Given the description of an element on the screen output the (x, y) to click on. 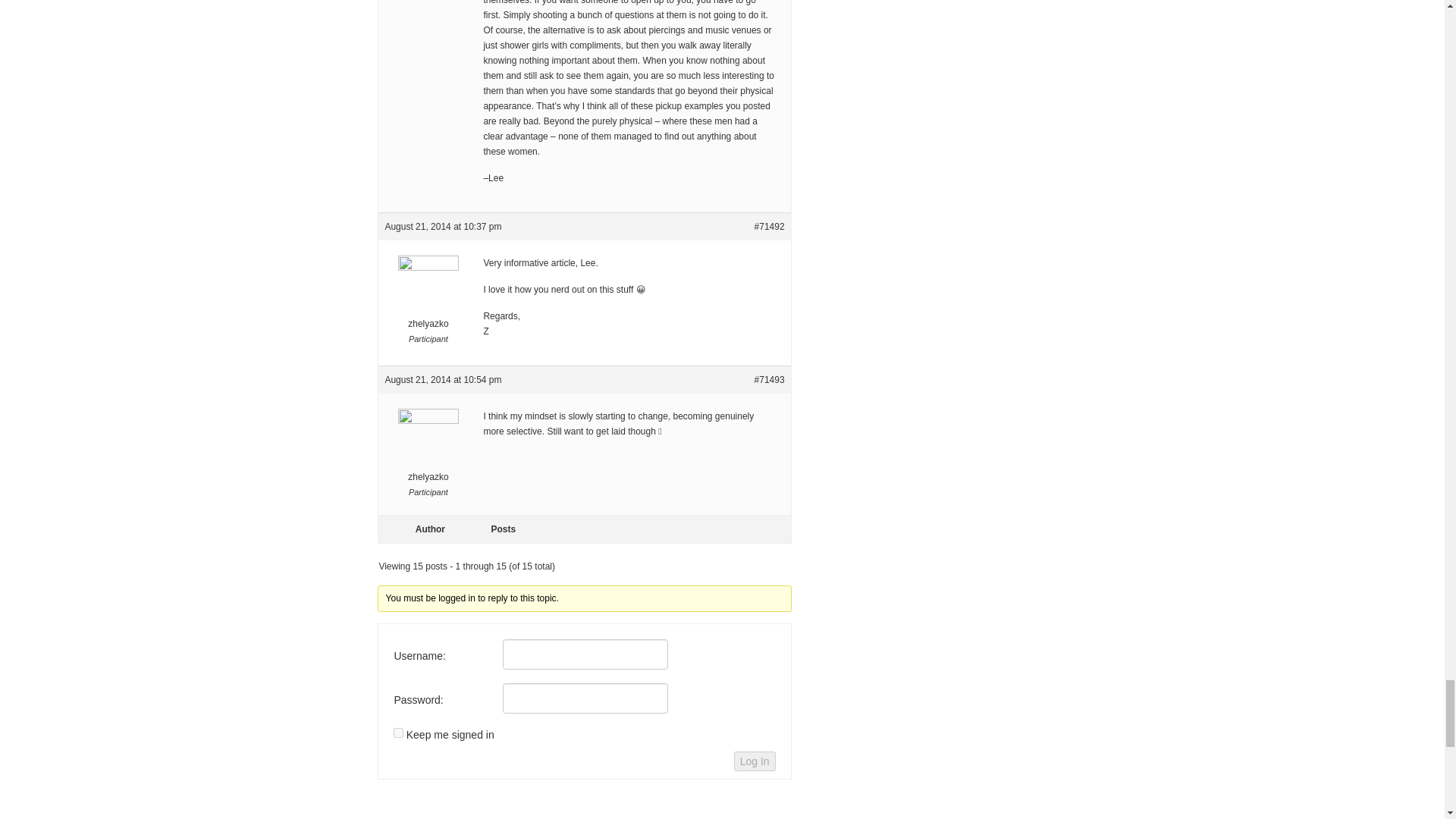
forever (398, 732)
View zhelyazko's profile (427, 303)
